Given the description of an element on the screen output the (x, y) to click on. 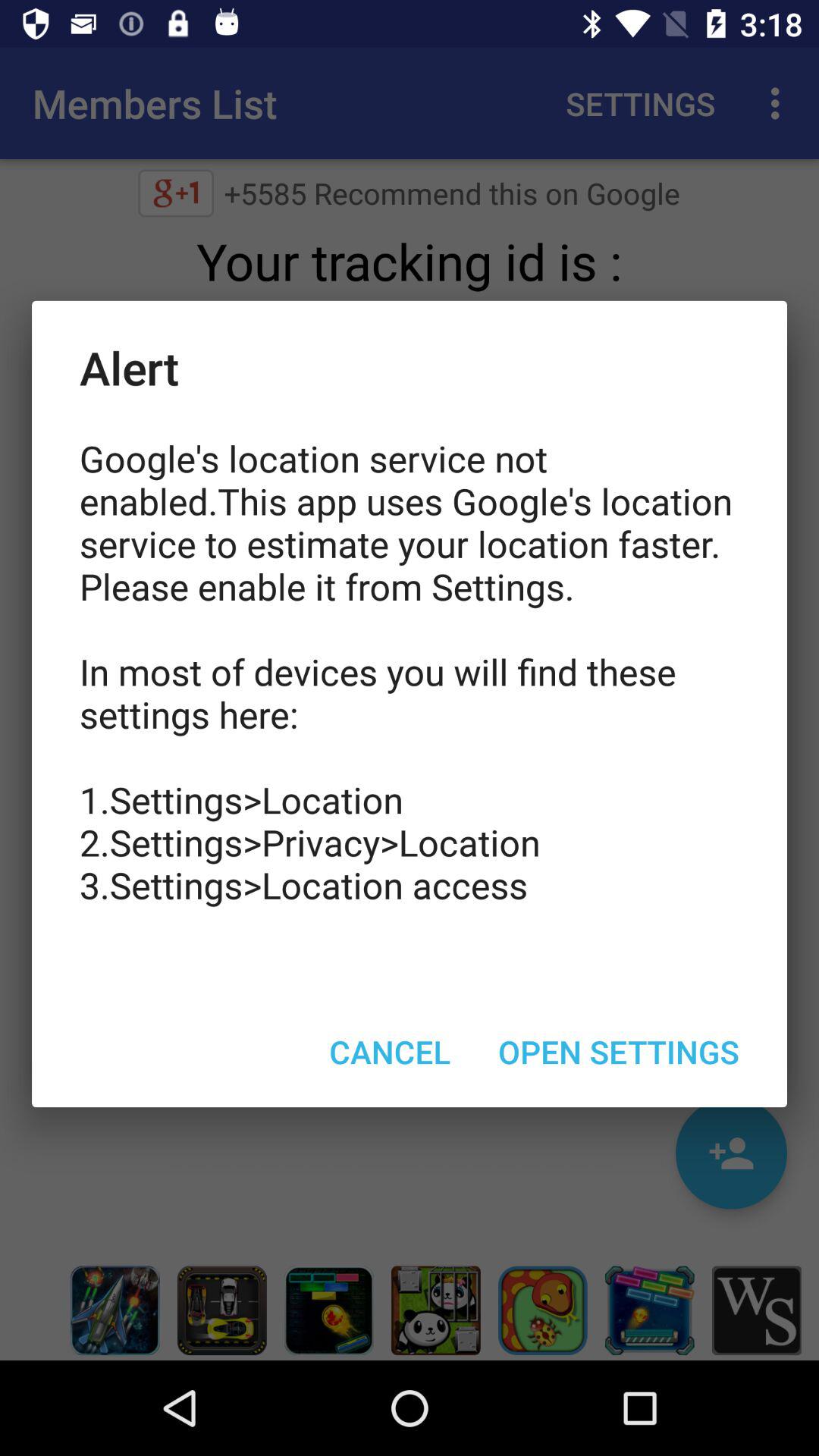
select open settings (618, 1051)
